Given the description of an element on the screen output the (x, y) to click on. 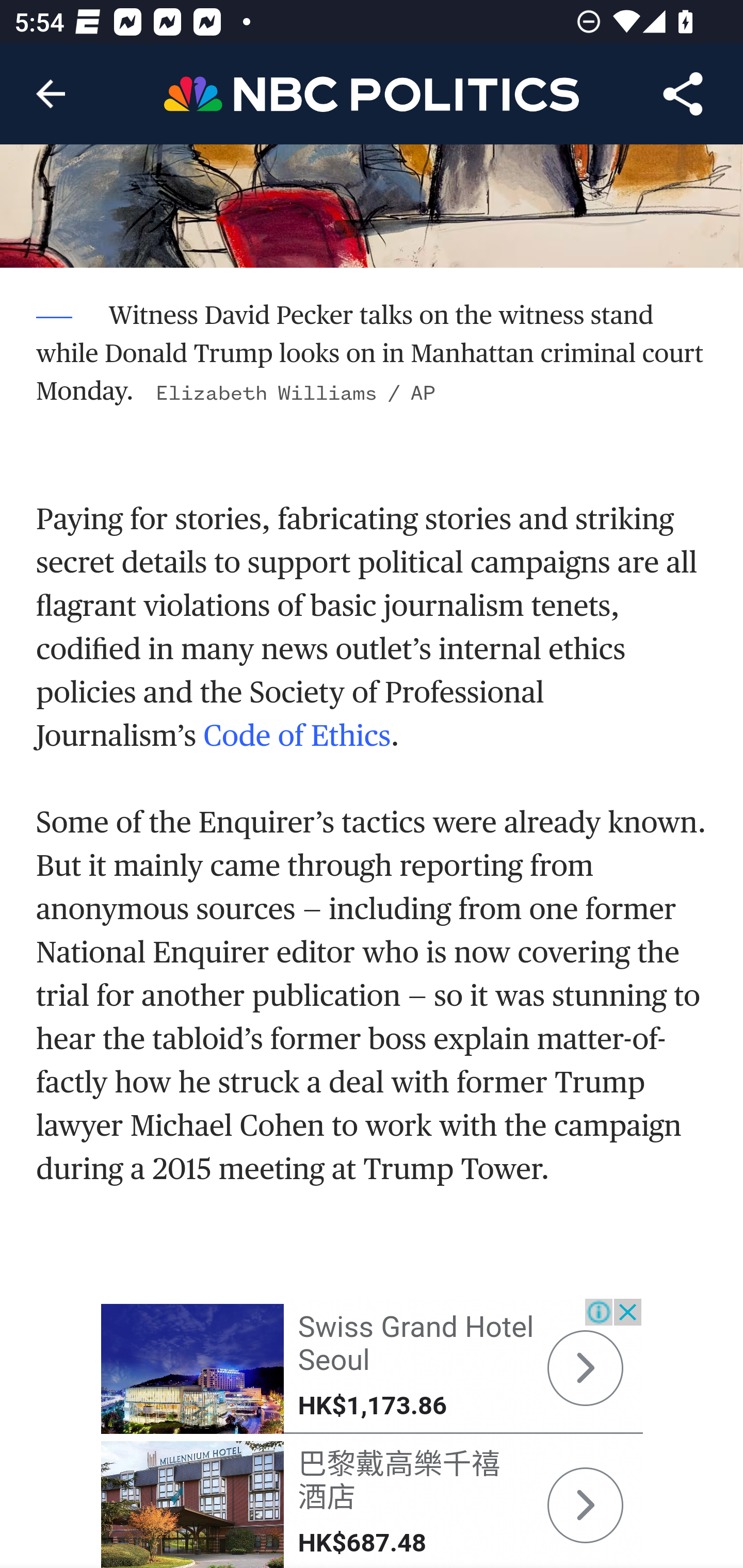
Navigate up (50, 93)
Share Article, button (683, 94)
Header, NBC Politics (371, 93)
Code of Ethics (296, 734)
partnersearch (193, 1368)
Swiss Grand Hotel Seoul Swiss Grand Hotel Seoul (415, 1344)
partnersearch (584, 1368)
HK$1,173.86 (372, 1406)
partnersearch (193, 1504)
巴黎戴高樂千禧 酒店 巴黎戴高樂千禧 酒店 (399, 1480)
partnersearch (584, 1506)
HK$687.48 (361, 1543)
